Given the description of an element on the screen output the (x, y) to click on. 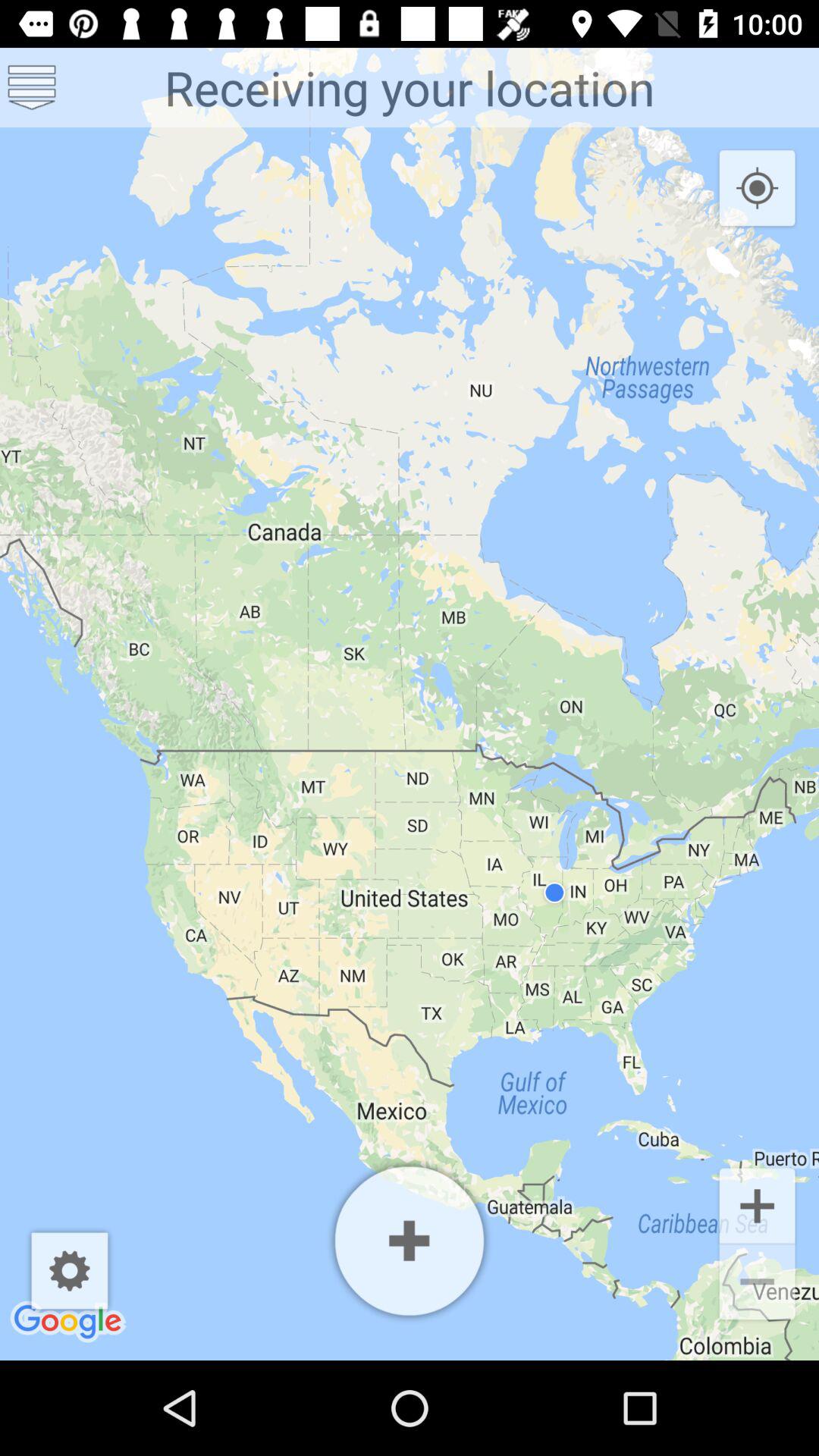
open the icon below receiving your location icon (69, 1270)
